Given the description of an element on the screen output the (x, y) to click on. 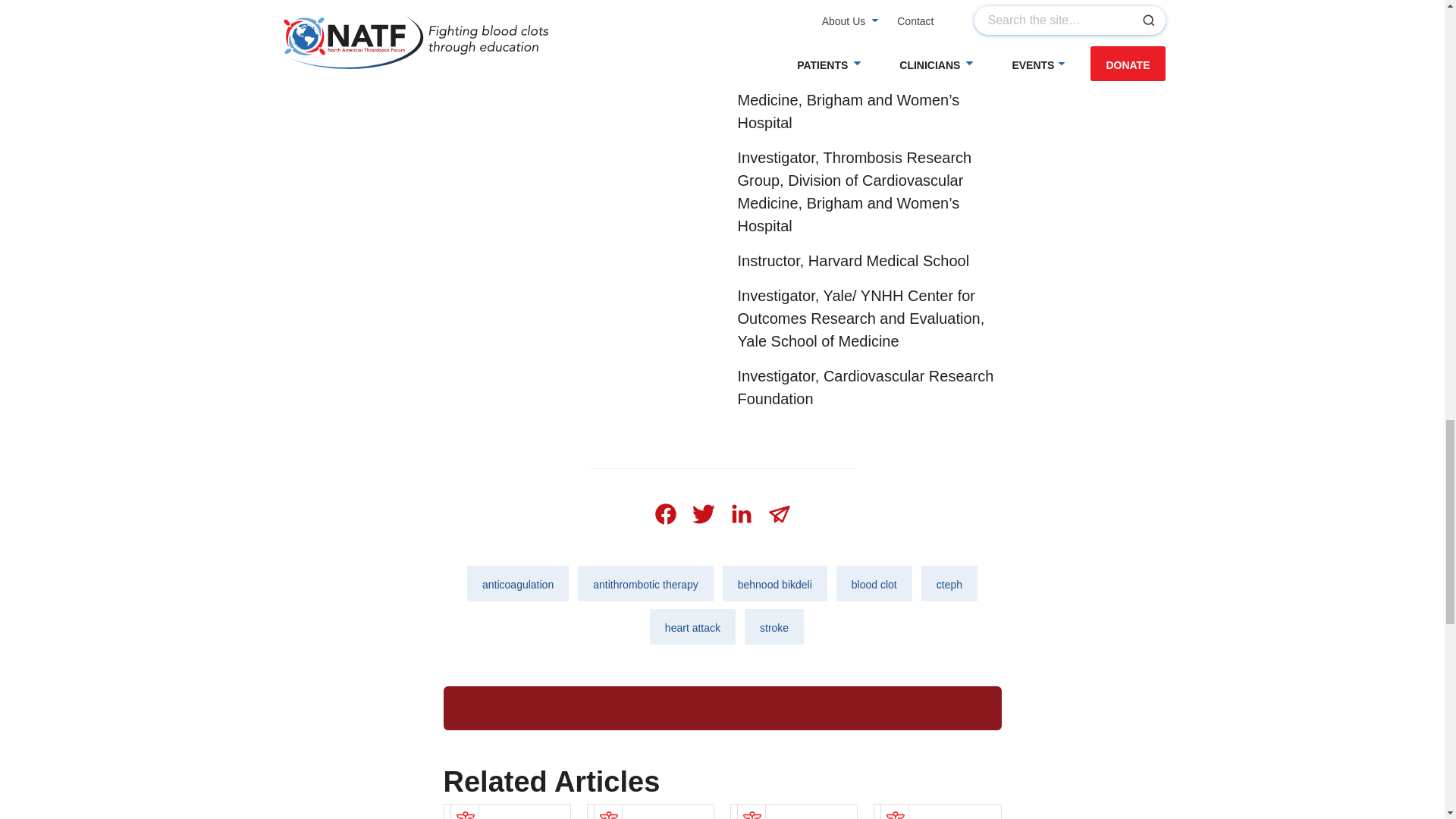
Share on Facebook (665, 513)
Share via Email (778, 513)
Share on LinkedIn (741, 513)
Share on Twitter (703, 513)
